Given the description of an element on the screen output the (x, y) to click on. 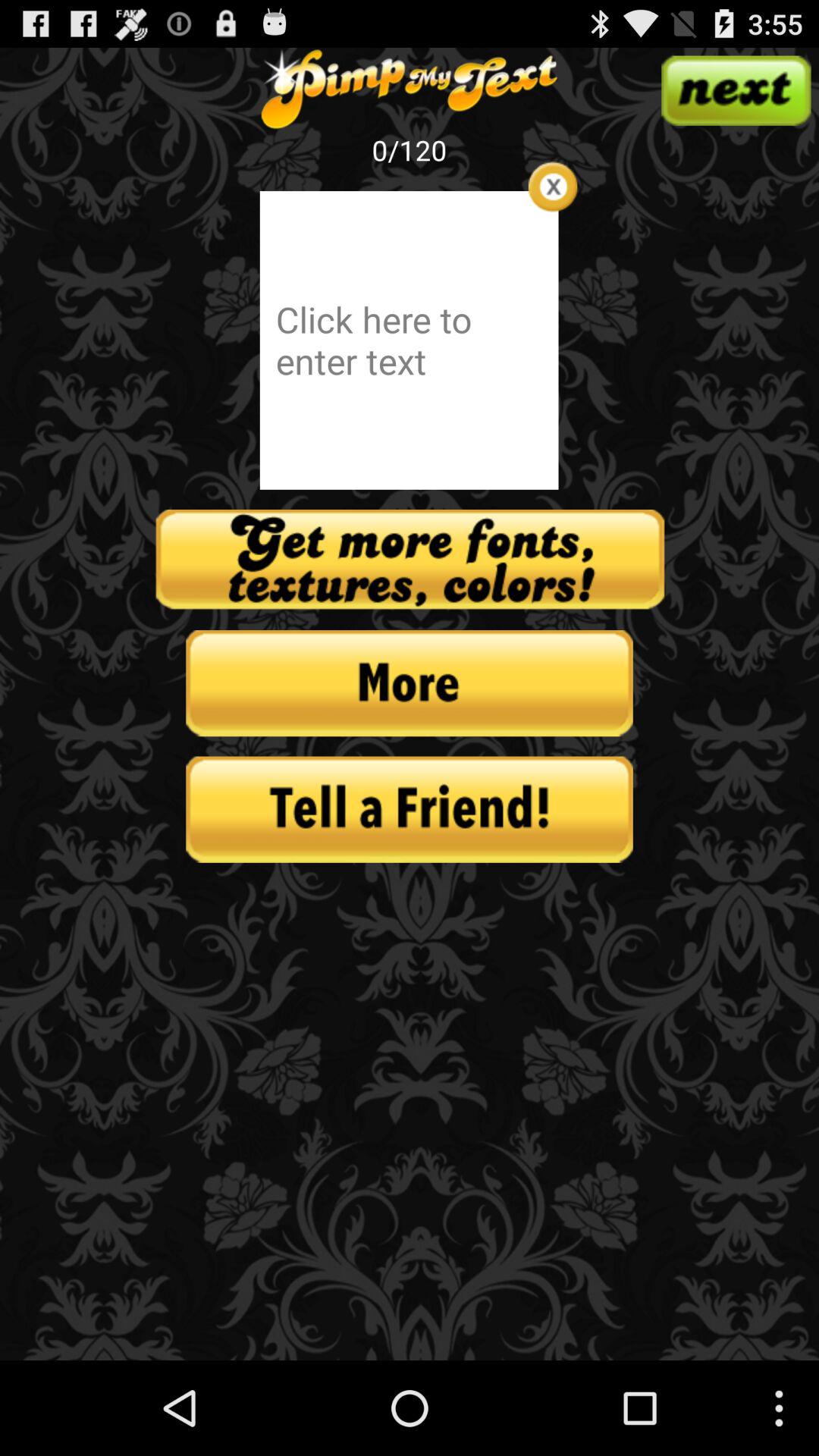
get more text options (409, 559)
